Given the description of an element on the screen output the (x, y) to click on. 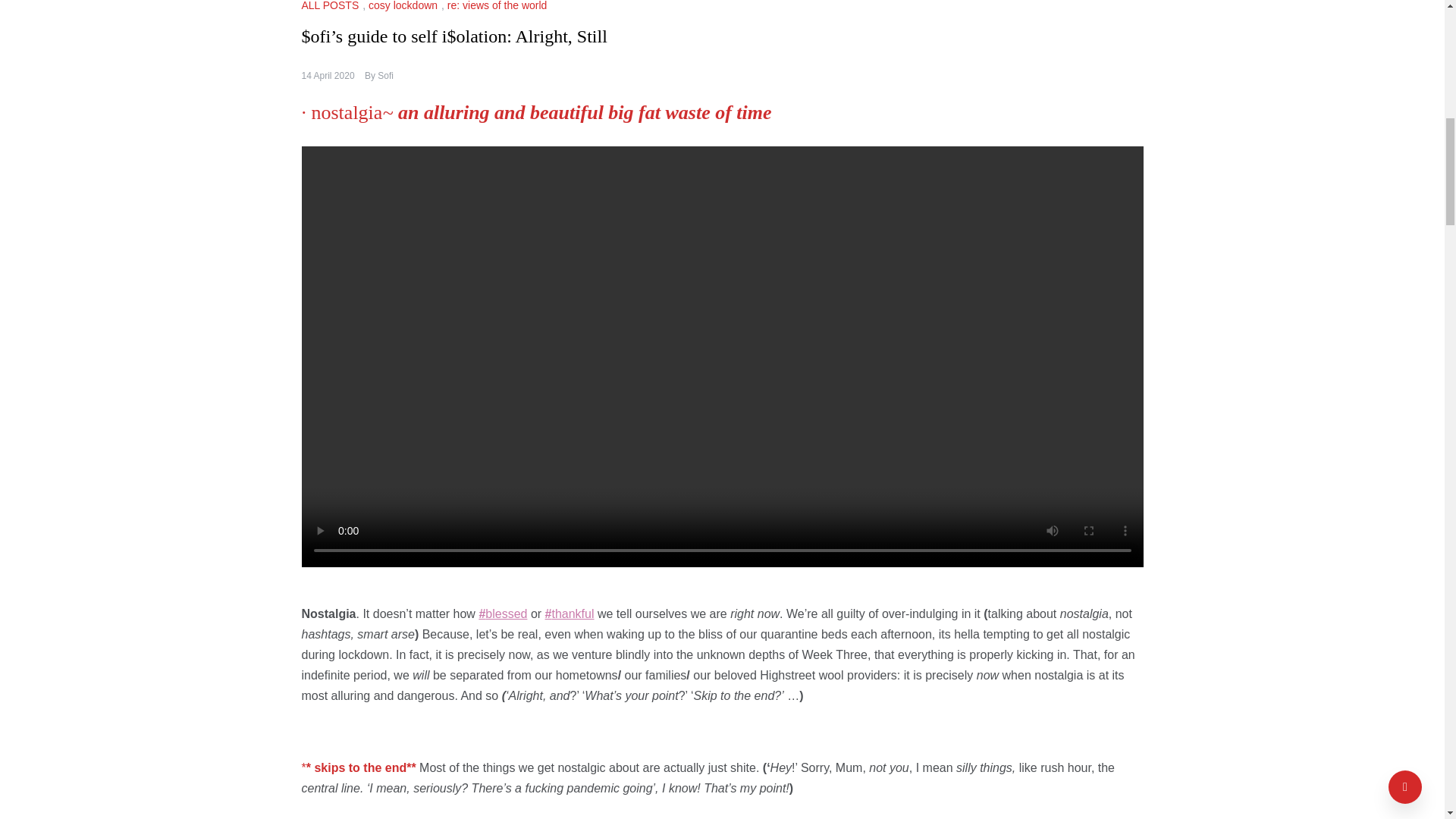
14 April 2020 (328, 75)
Sofi (385, 75)
ALL POSTS (331, 5)
cosy lockdown (404, 5)
re: views of the world (498, 5)
